Given the description of an element on the screen output the (x, y) to click on. 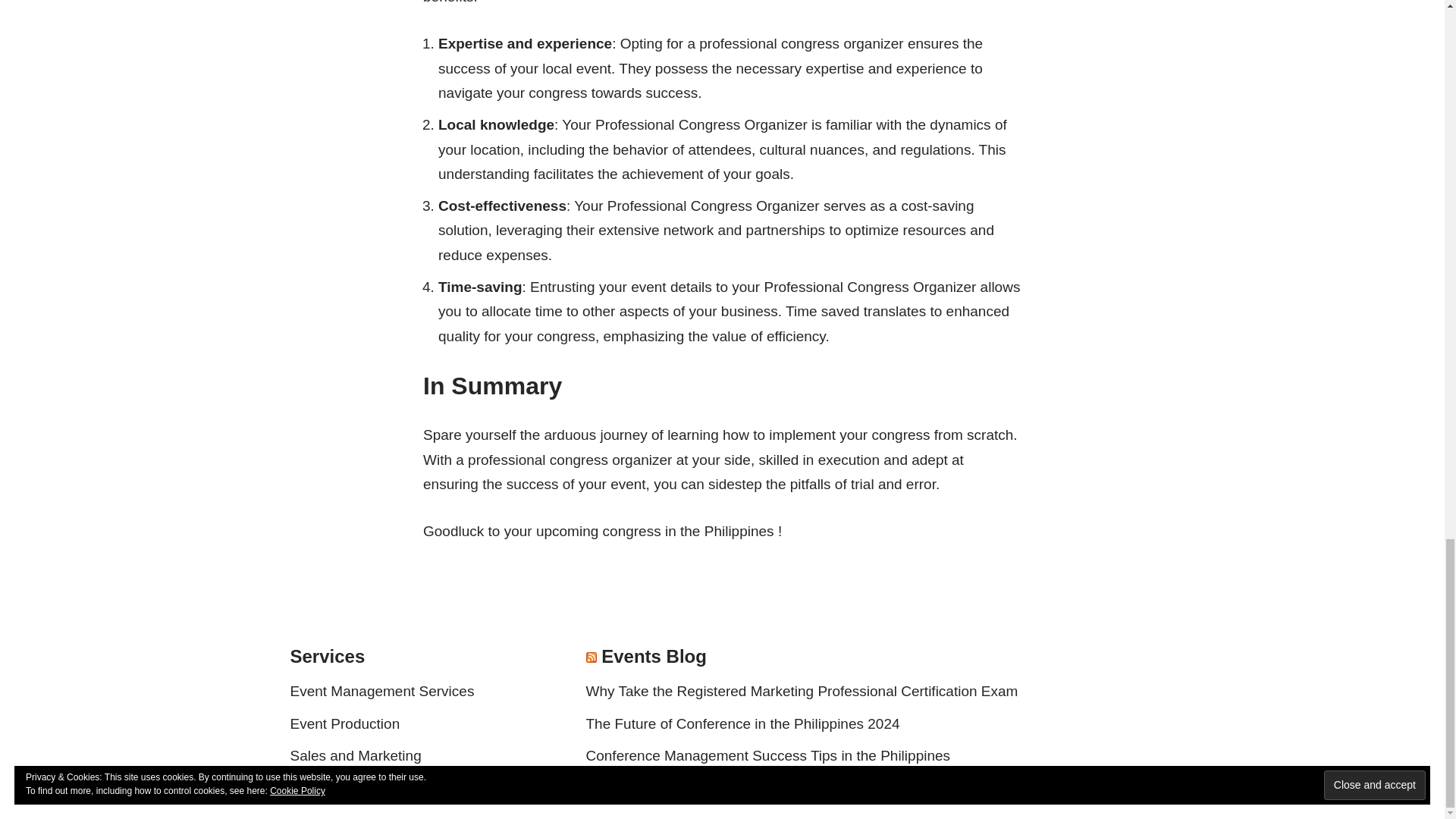
Event Production (343, 723)
Event Management Services (381, 691)
Sales and Marketing (354, 755)
